Given the description of an element on the screen output the (x, y) to click on. 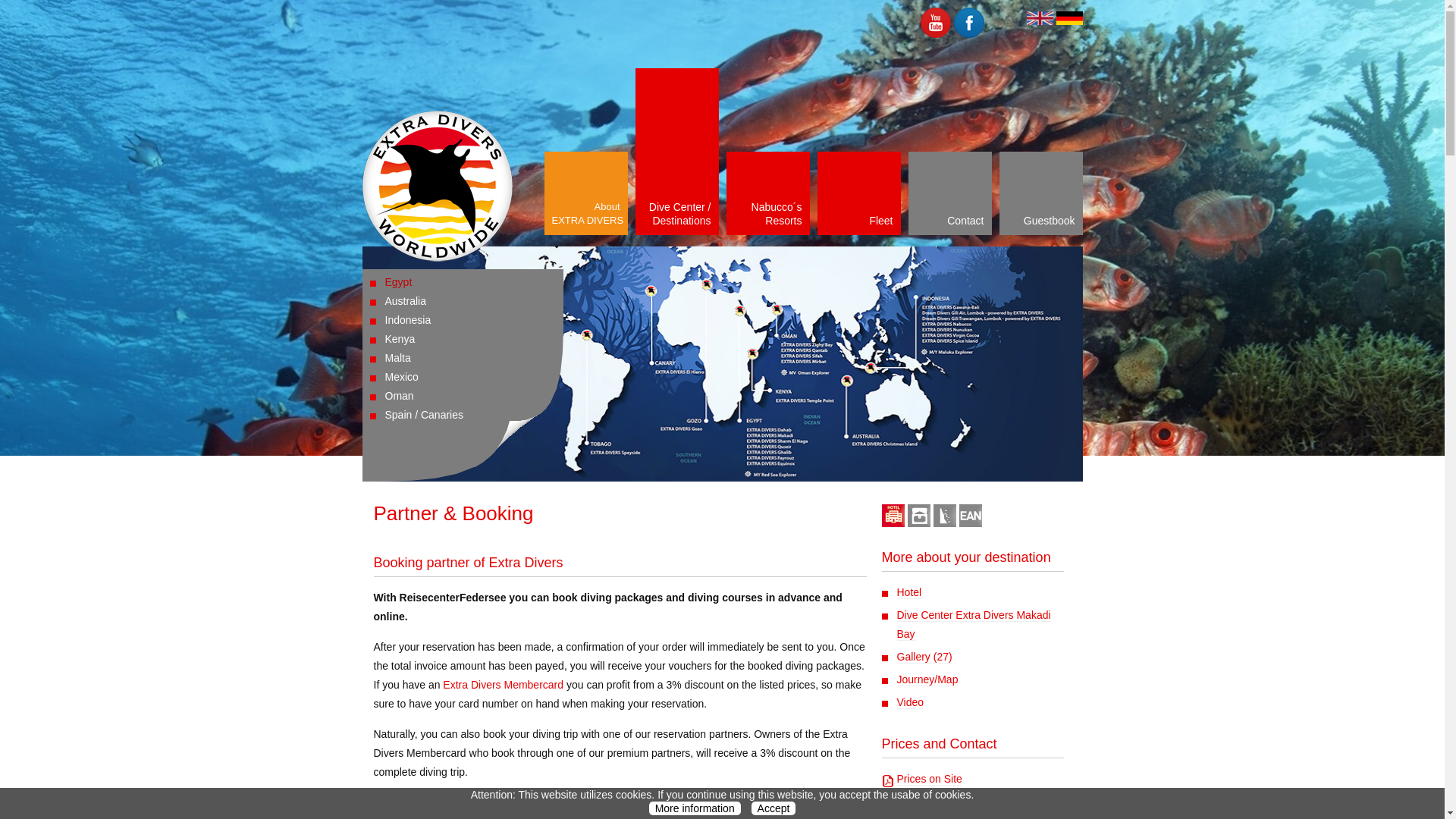
Contact (949, 193)
Egypt (398, 282)
More information (695, 807)
Australia (585, 193)
Accept (405, 300)
Guestbook (773, 807)
Fleet (1040, 193)
